Given the description of an element on the screen output the (x, y) to click on. 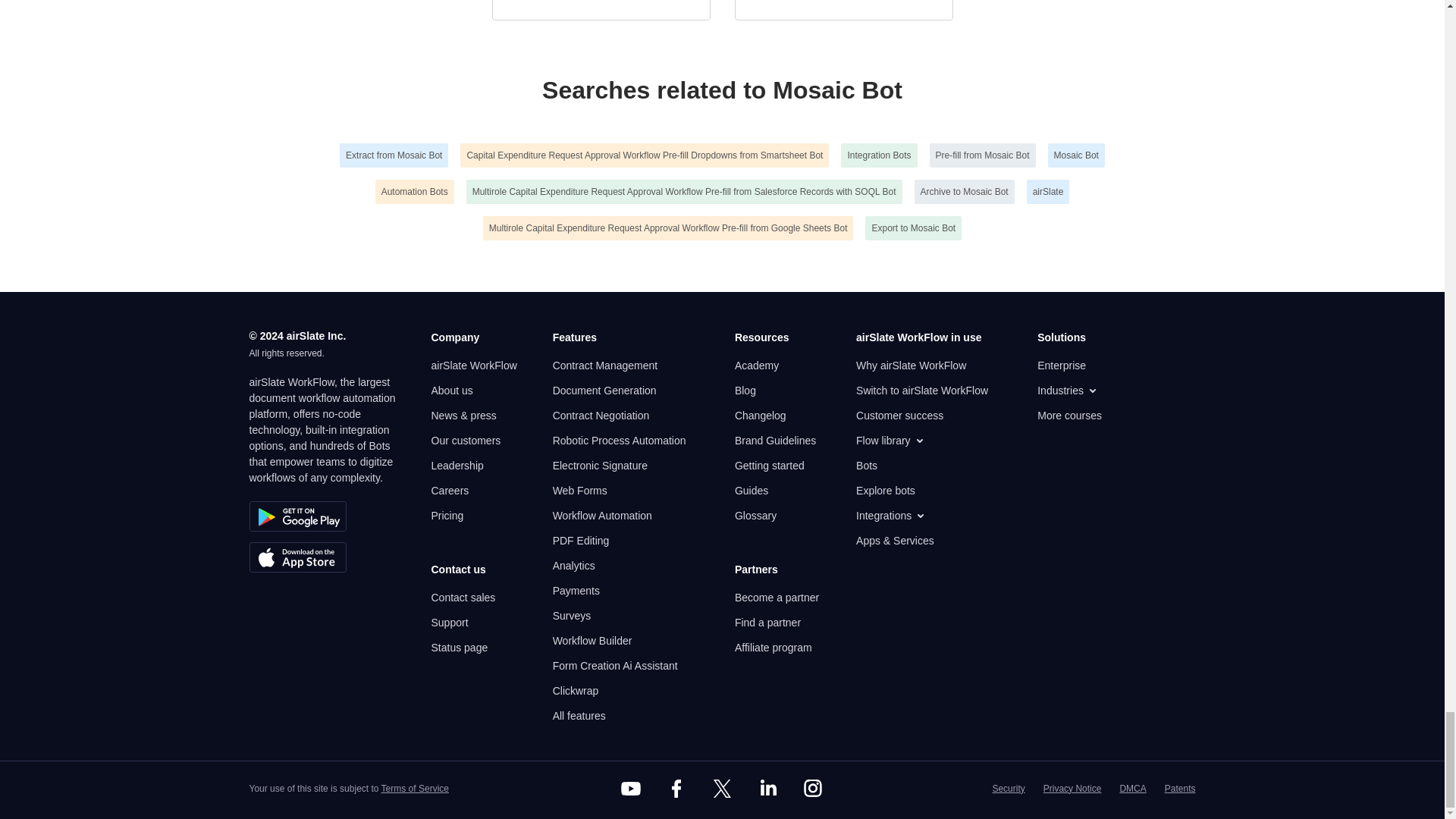
Twitter (721, 788)
Facebook (676, 788)
Instagram (812, 788)
LinkedIn (767, 788)
YouTube (630, 788)
